Given the description of an element on the screen output the (x, y) to click on. 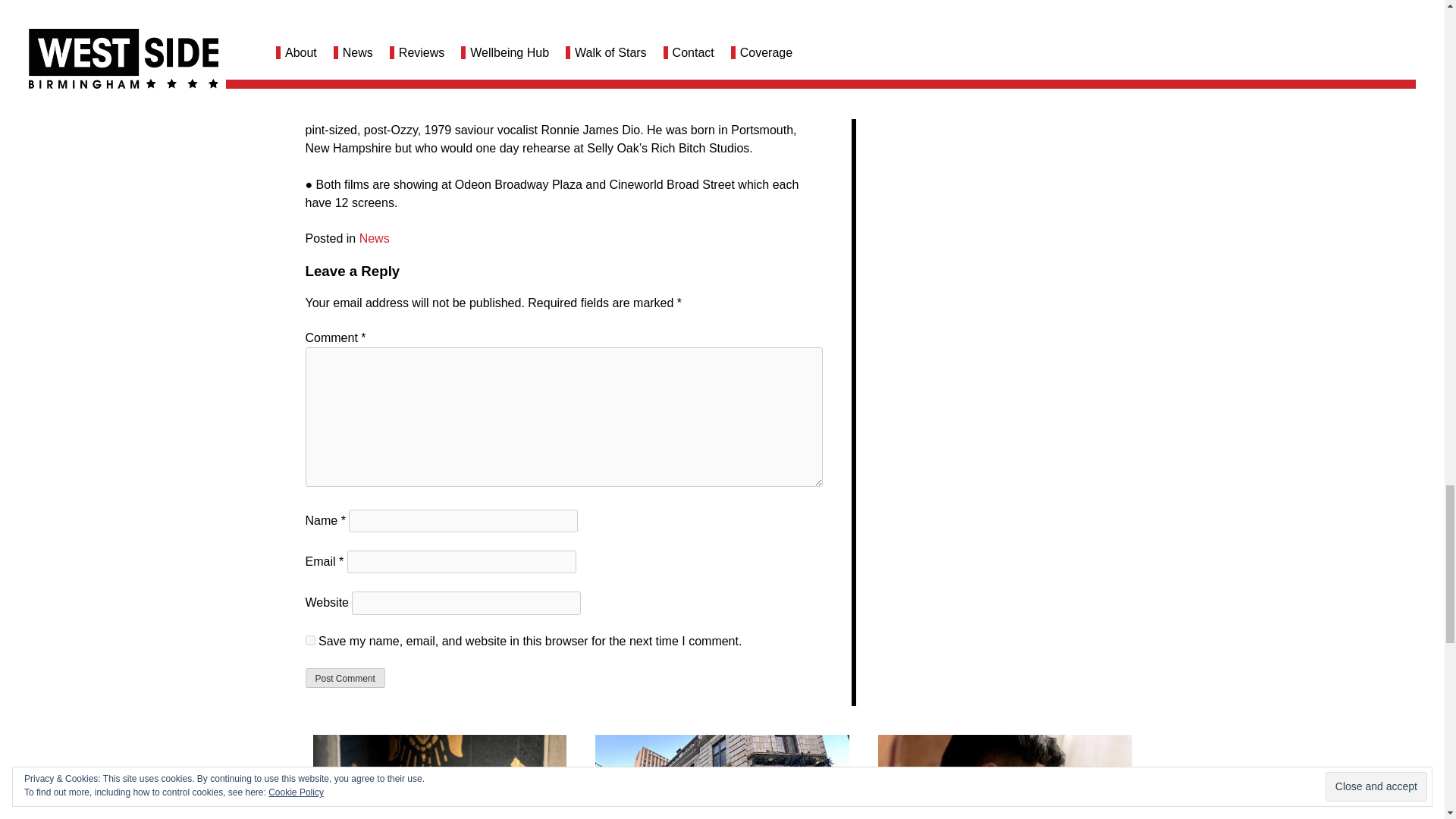
Post Comment (344, 677)
News (374, 237)
Post Comment (344, 677)
yes (309, 640)
